Given the description of an element on the screen output the (x, y) to click on. 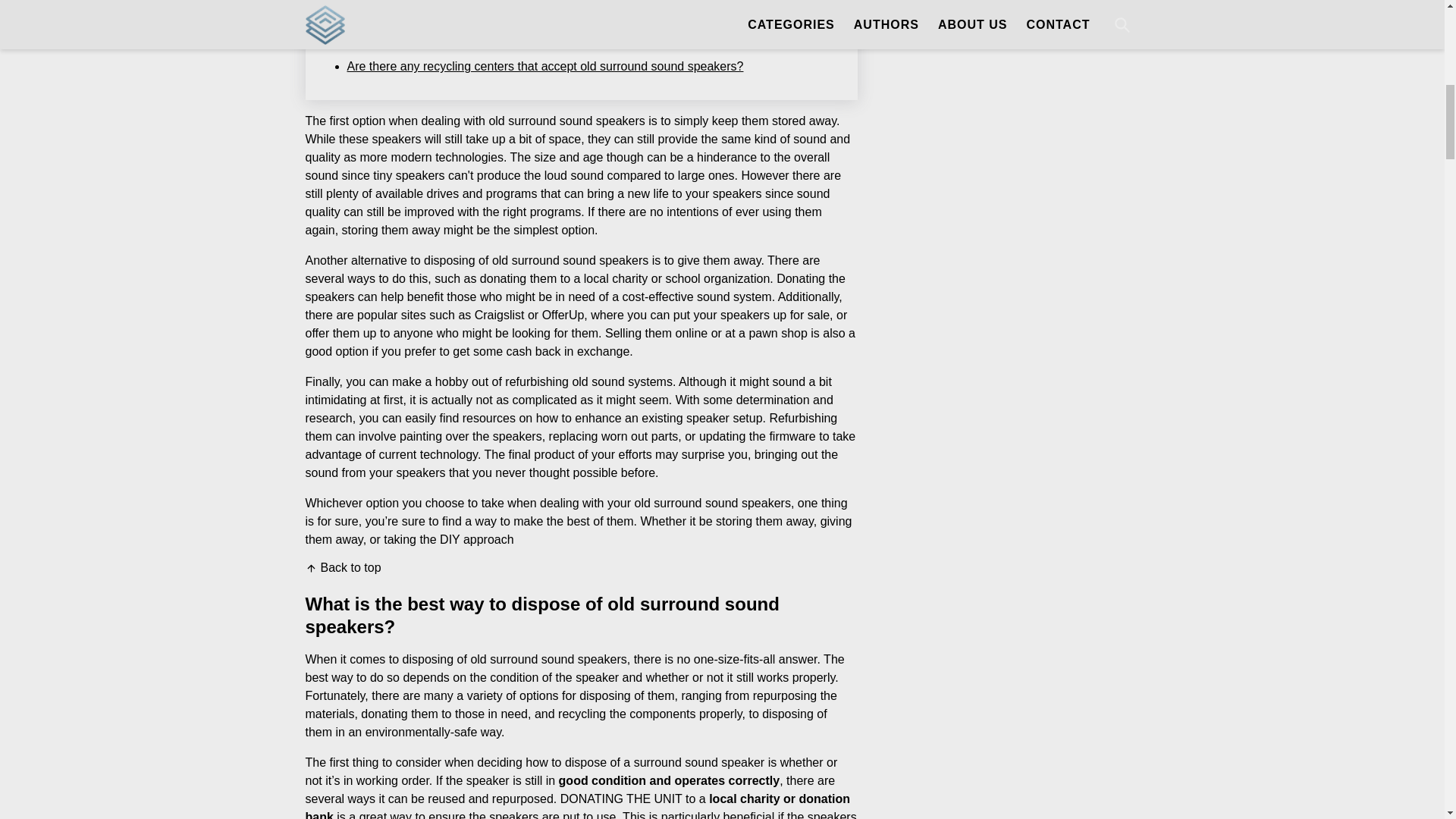
Can I donate old surround sound speakers to a charity? (496, 41)
Back to top (342, 567)
